Given the description of an element on the screen output the (x, y) to click on. 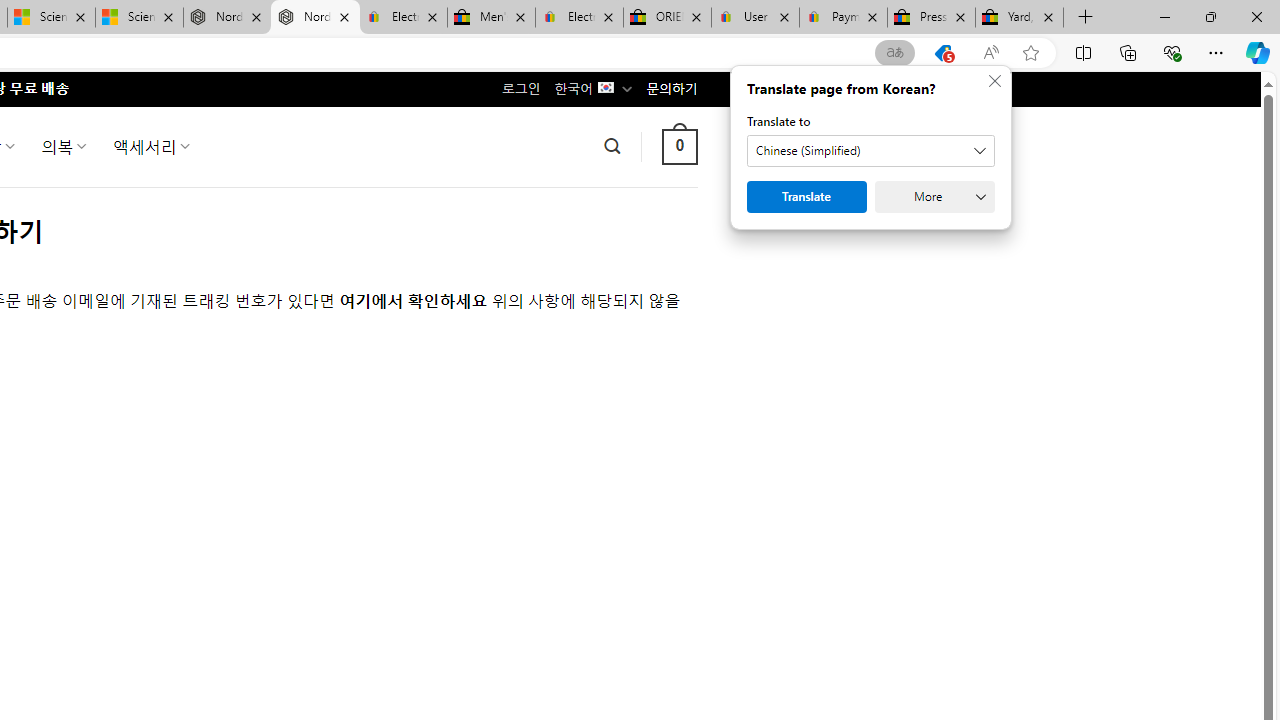
Translate to (870, 151)
